Given the description of an element on the screen output the (x, y) to click on. 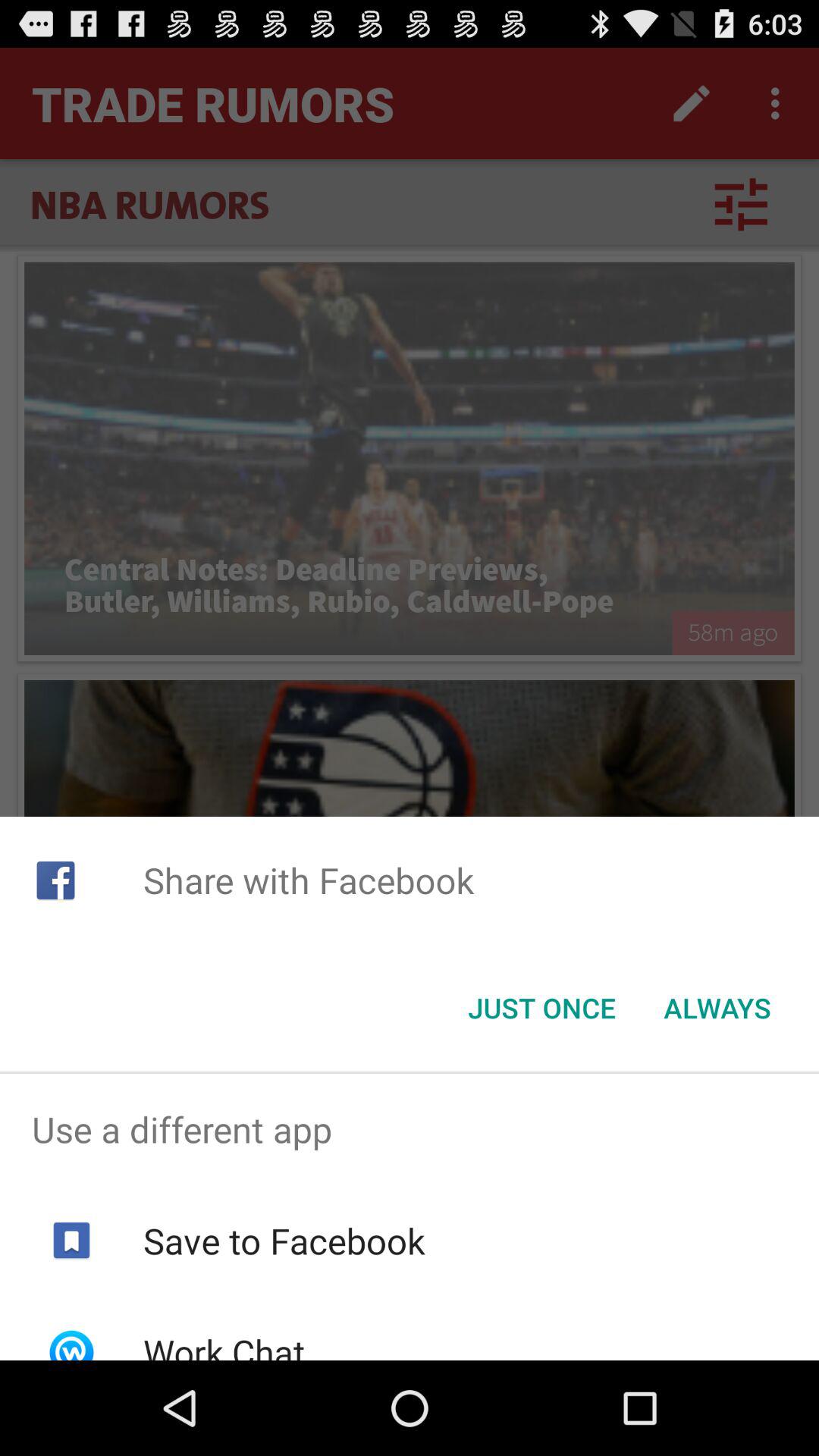
choose the button to the right of the just once icon (717, 1007)
